Given the description of an element on the screen output the (x, y) to click on. 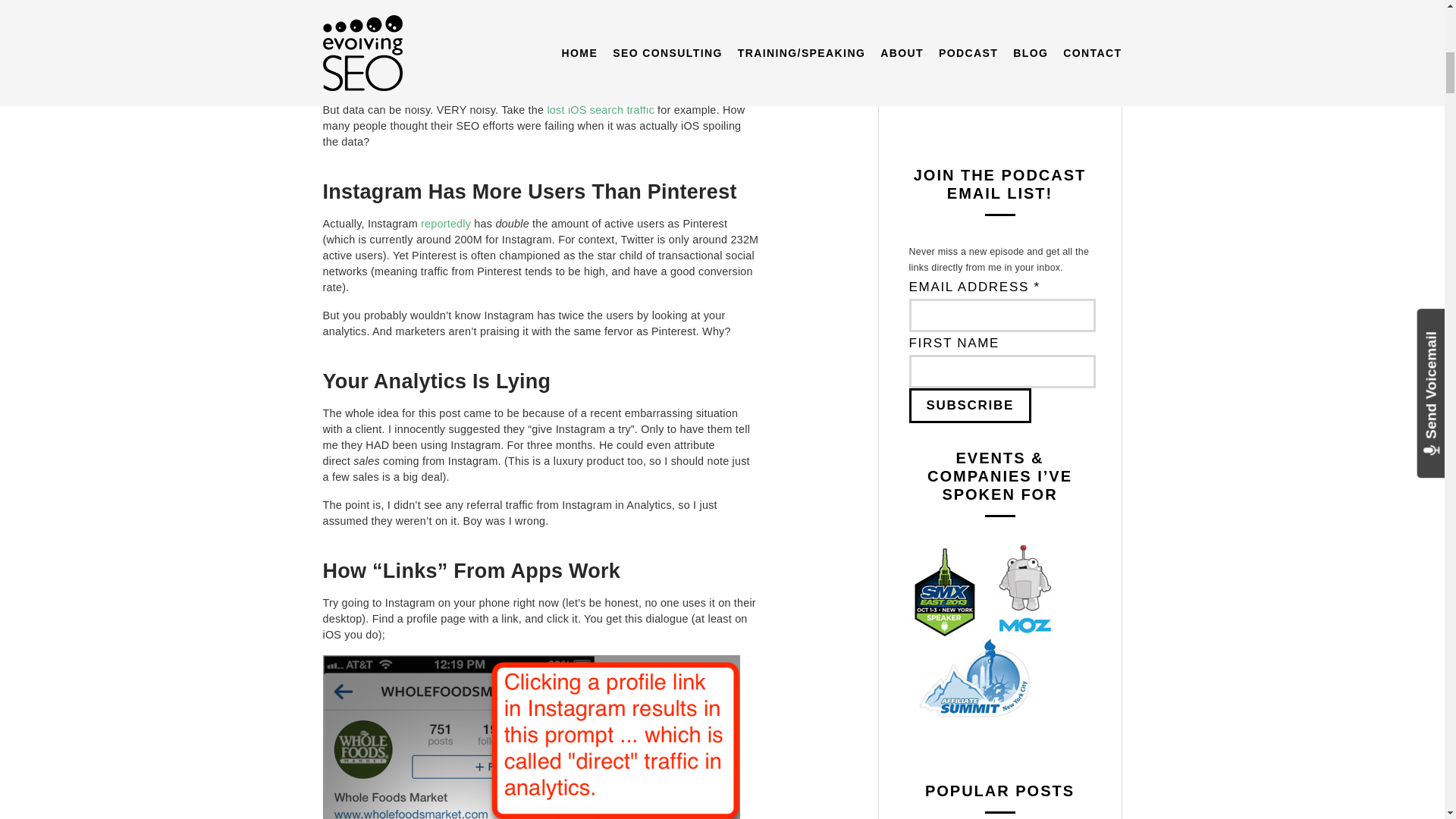
Subscribe (969, 405)
Subscribe on Android (1004, 3)
Subscribe by Email (1004, 34)
Subscribe via RSS (1004, 81)
